Given the description of an element on the screen output the (x, y) to click on. 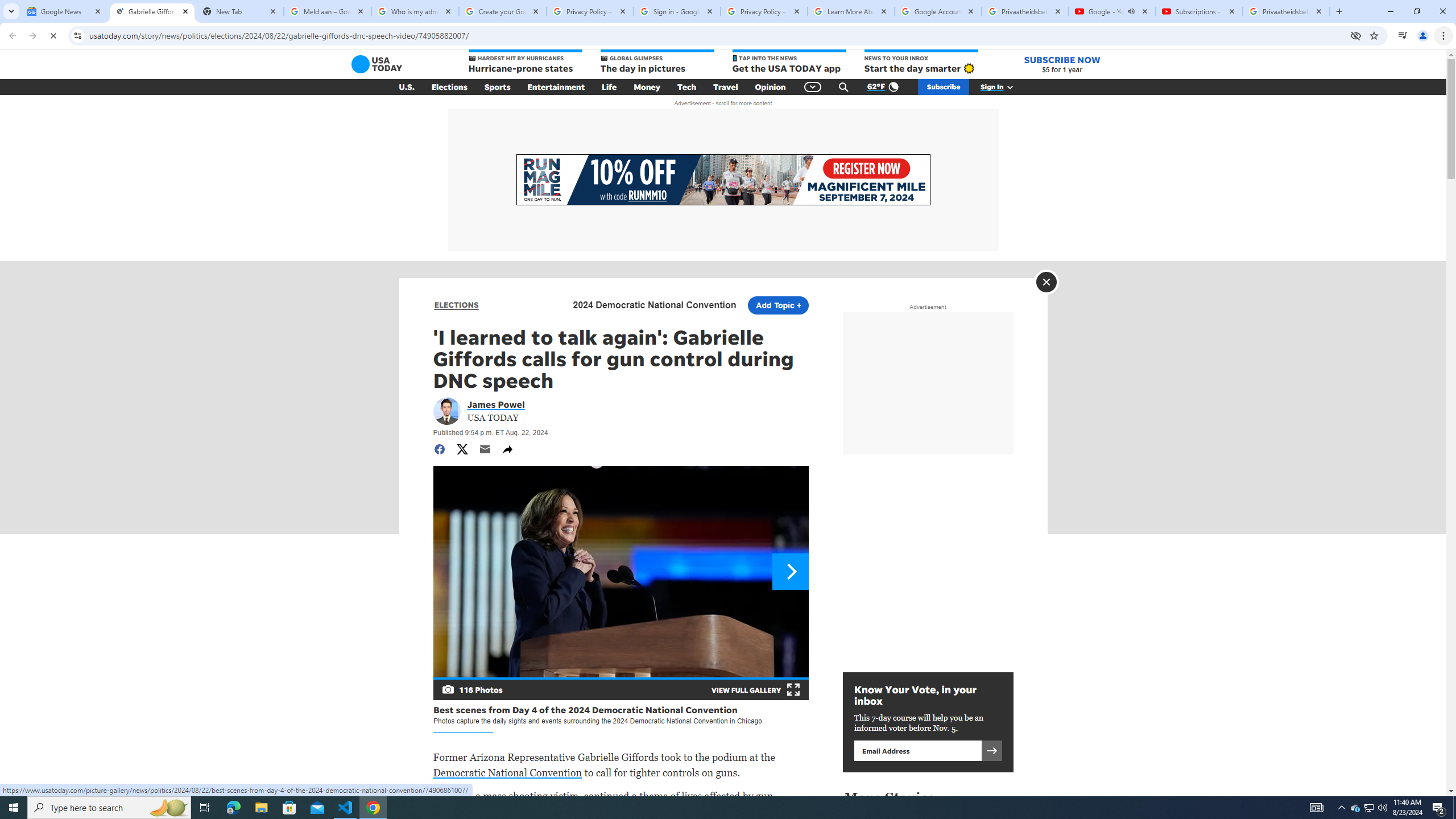
Money (646, 87)
Share to Twitter (461, 449)
SUBSCRIBE NOW $5 for 1 year (1062, 64)
Add Topic (777, 305)
Submit to sign up for newsletter (991, 750)
Google Account (938, 11)
Opinion (770, 87)
